Given the description of an element on the screen output the (x, y) to click on. 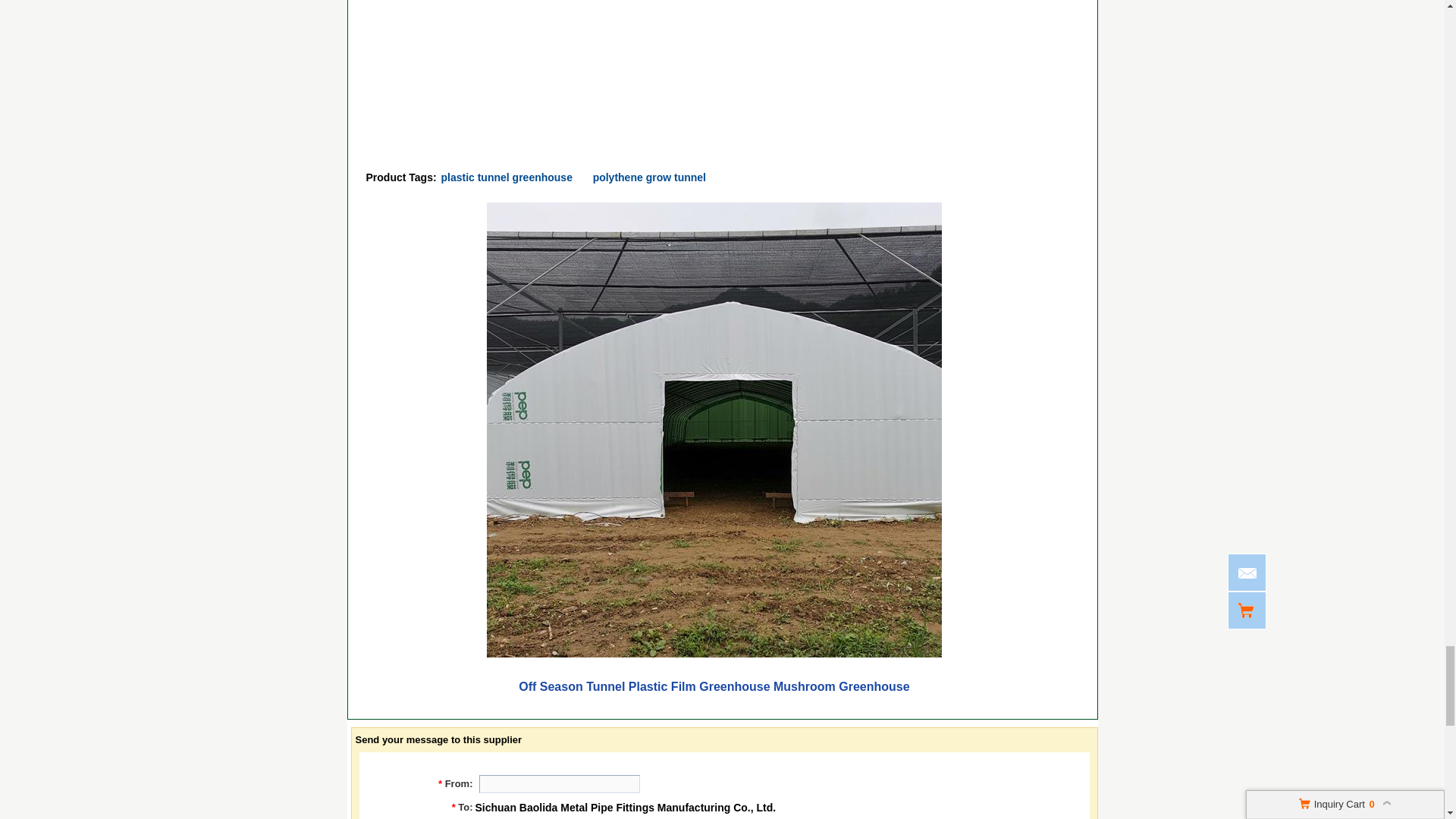
Quality plastic tunnel greenhouse for sale (506, 177)
plastic tunnel greenhouse (506, 177)
Quality polythene grow tunnel for sale (649, 177)
polythene grow tunnel (649, 177)
